Given the description of an element on the screen output the (x, y) to click on. 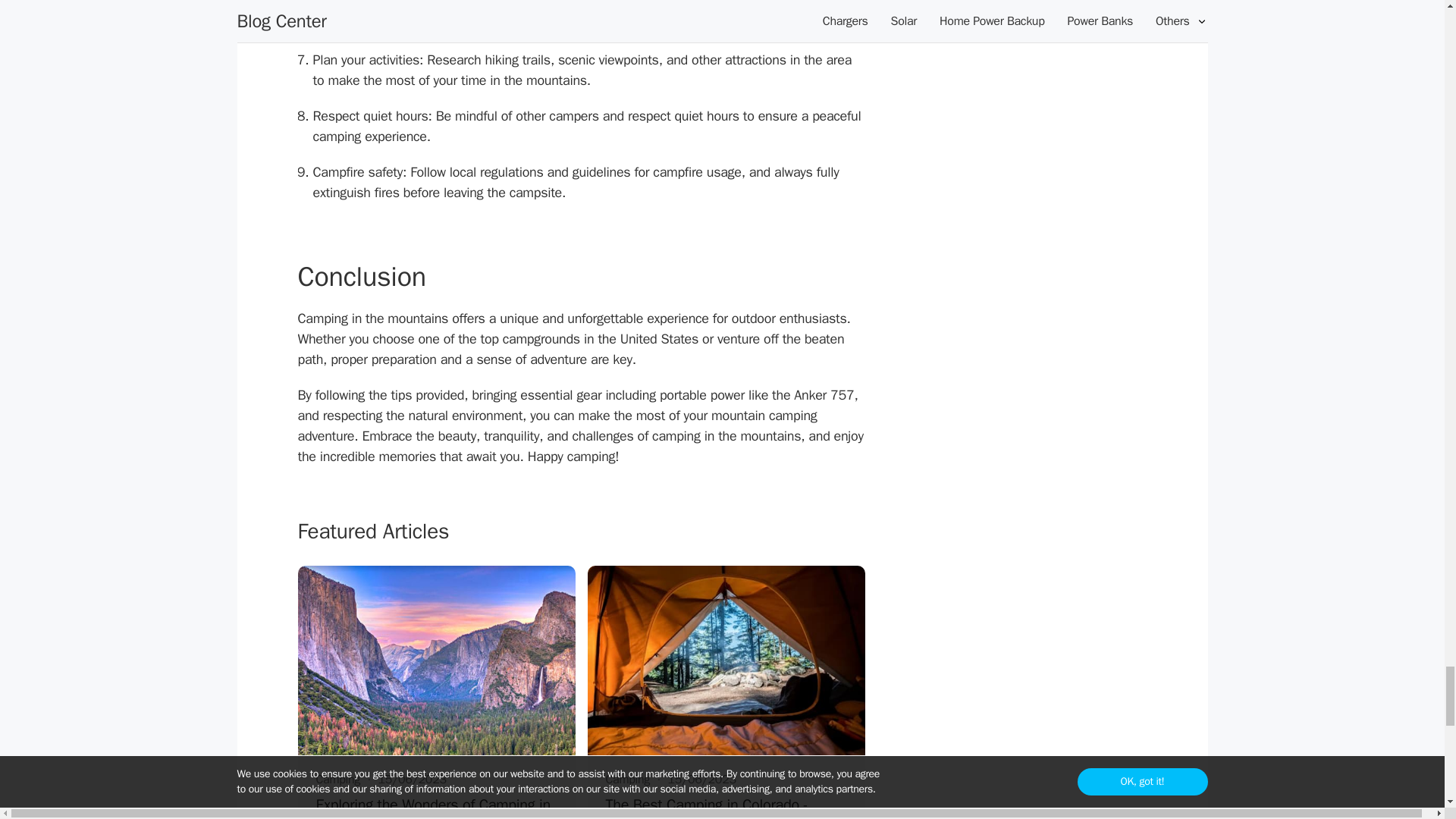
Camping (627, 779)
Exploring the Wonders of Camping in California (435, 807)
Camping (337, 779)
The Best Camping in Colorado - Discover Nature's Paradise (725, 807)
